Given the description of an element on the screen output the (x, y) to click on. 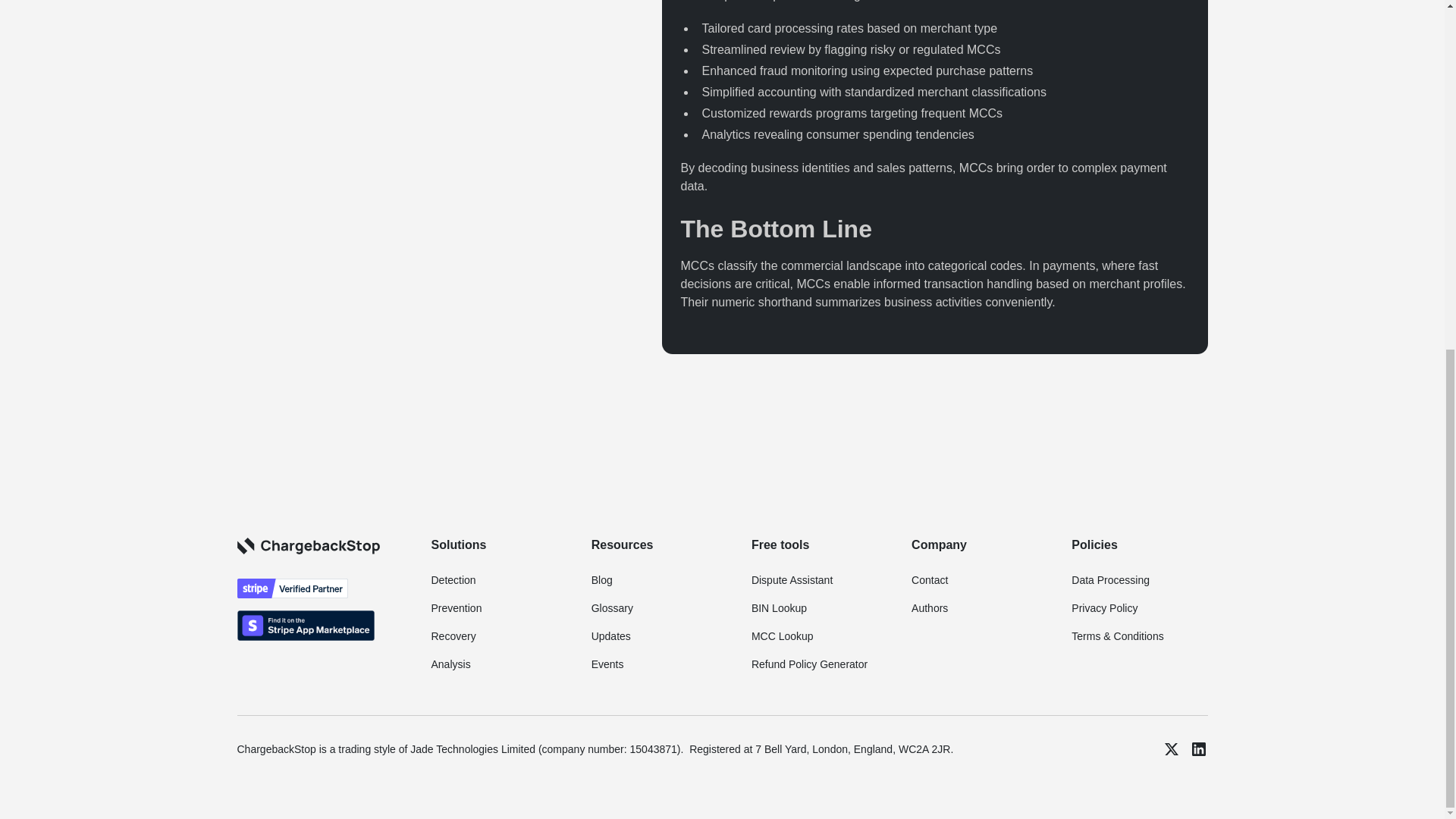
Dispute Assistant (791, 580)
Data Processing (1110, 580)
Contact (929, 580)
Analysis (450, 664)
Events (607, 664)
Recovery (453, 636)
Refund Policy Generator (809, 664)
MCC Lookup (782, 636)
Detection (453, 580)
Prevention (455, 608)
Updates (610, 636)
Privacy Policy (1104, 608)
BIN Lookup (778, 608)
Authors (929, 608)
Glossary (612, 608)
